Given the description of an element on the screen output the (x, y) to click on. 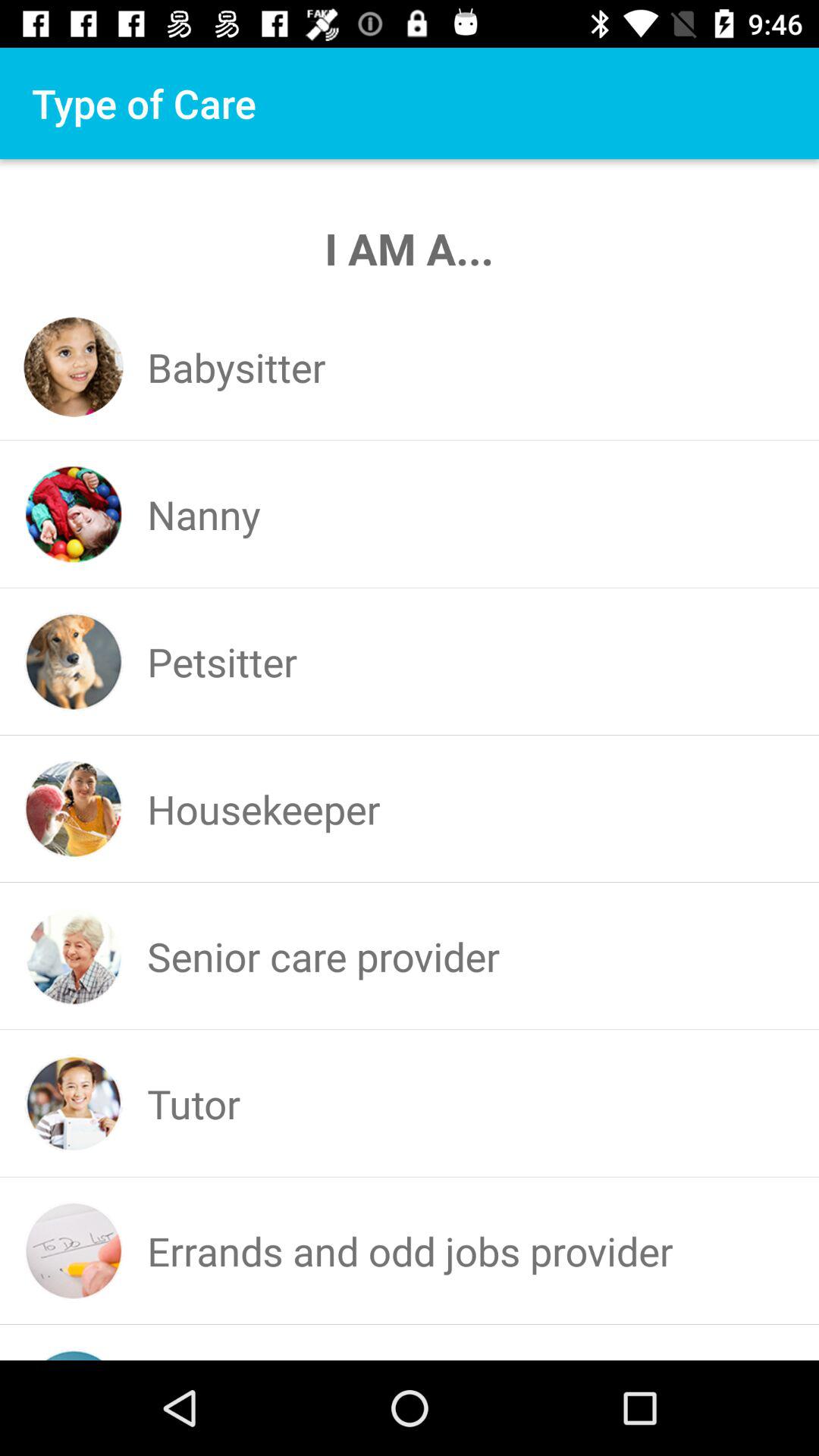
tap the errands and odd icon (410, 1250)
